Given the description of an element on the screen output the (x, y) to click on. 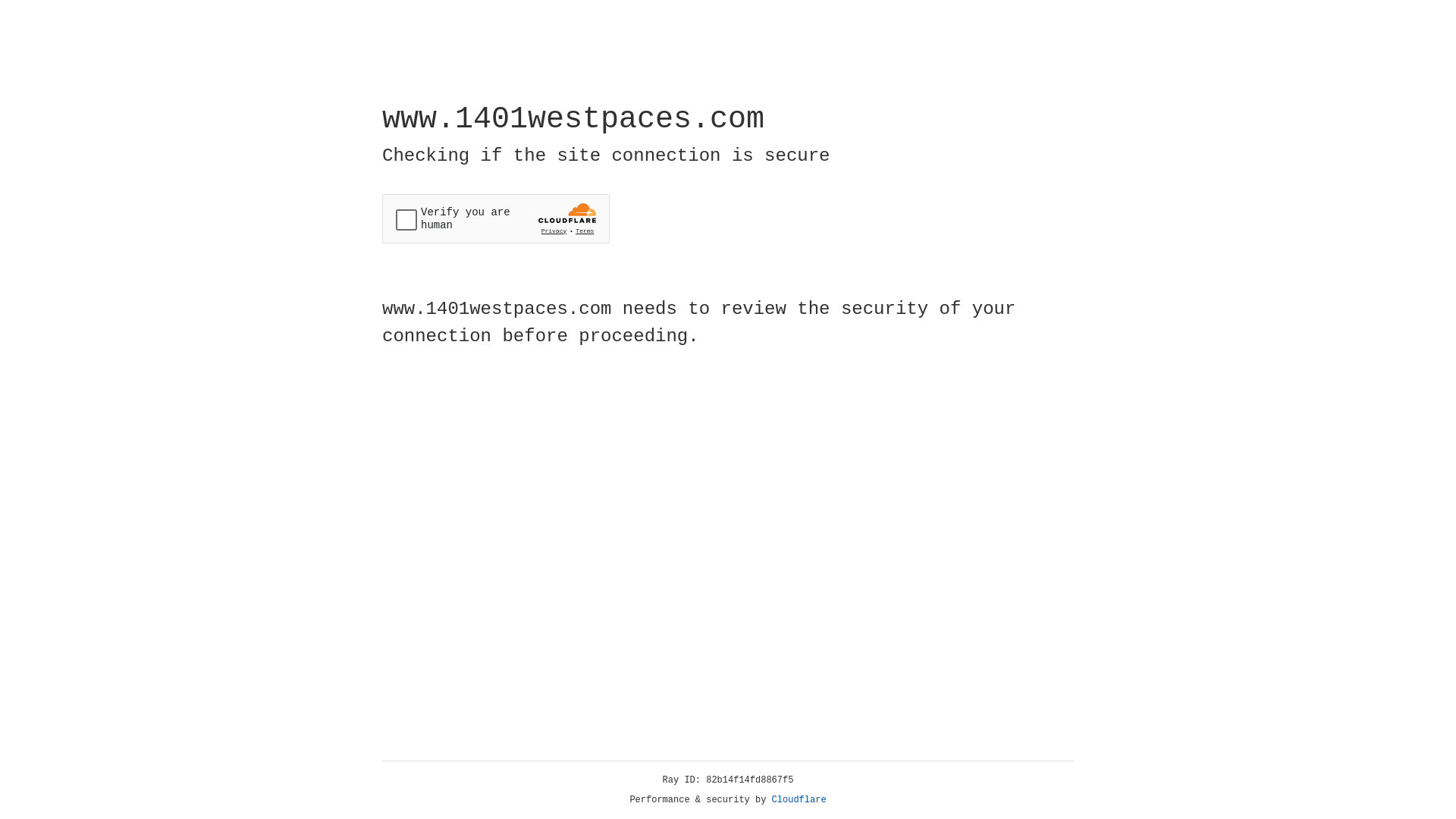
Widget containing a Cloudflare security challenge Element type: hover (495, 218)
Cloudflare Element type: text (798, 799)
